Given the description of an element on the screen output the (x, y) to click on. 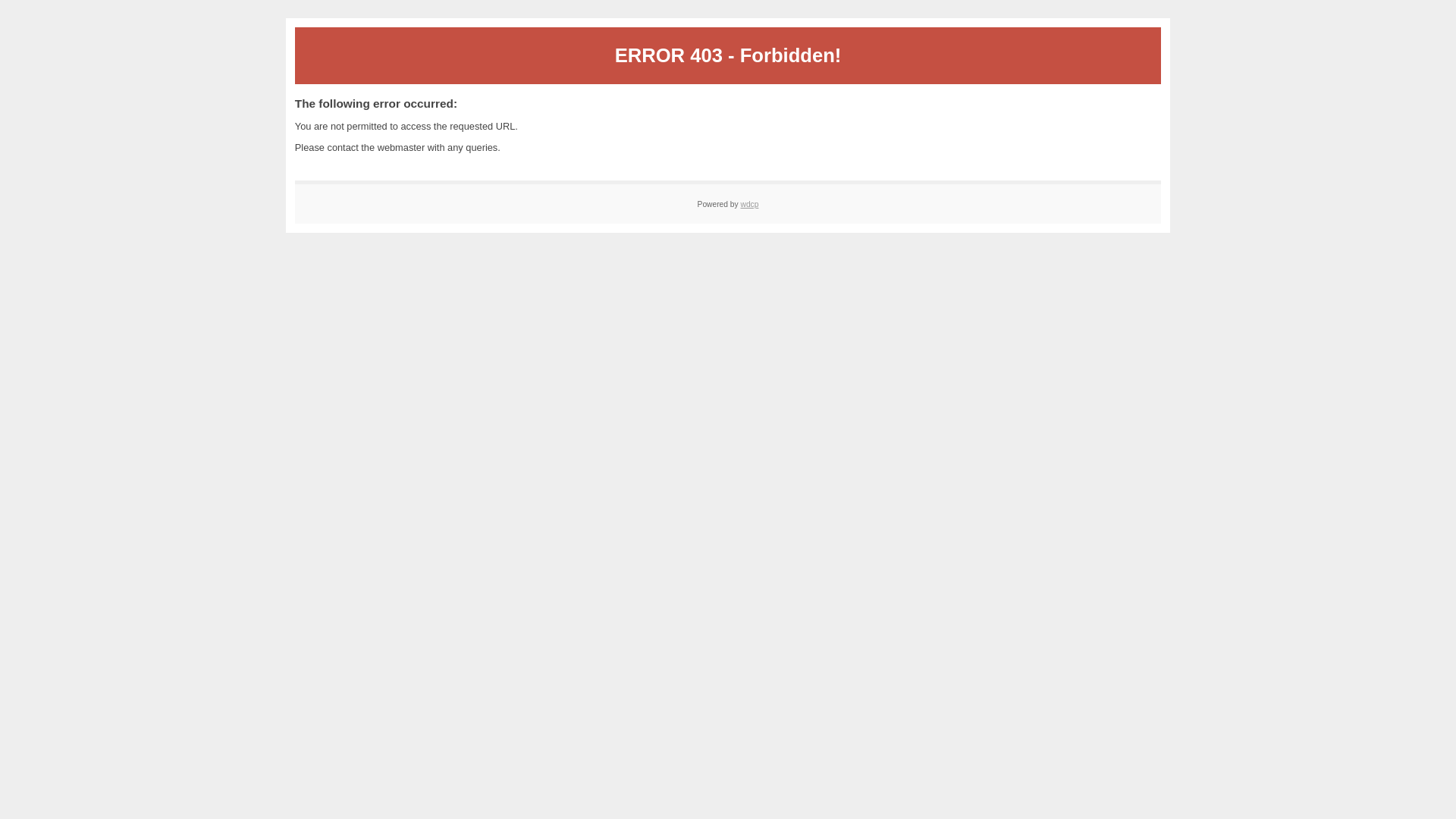
wdcp Element type: text (749, 204)
